Given the description of an element on the screen output the (x, y) to click on. 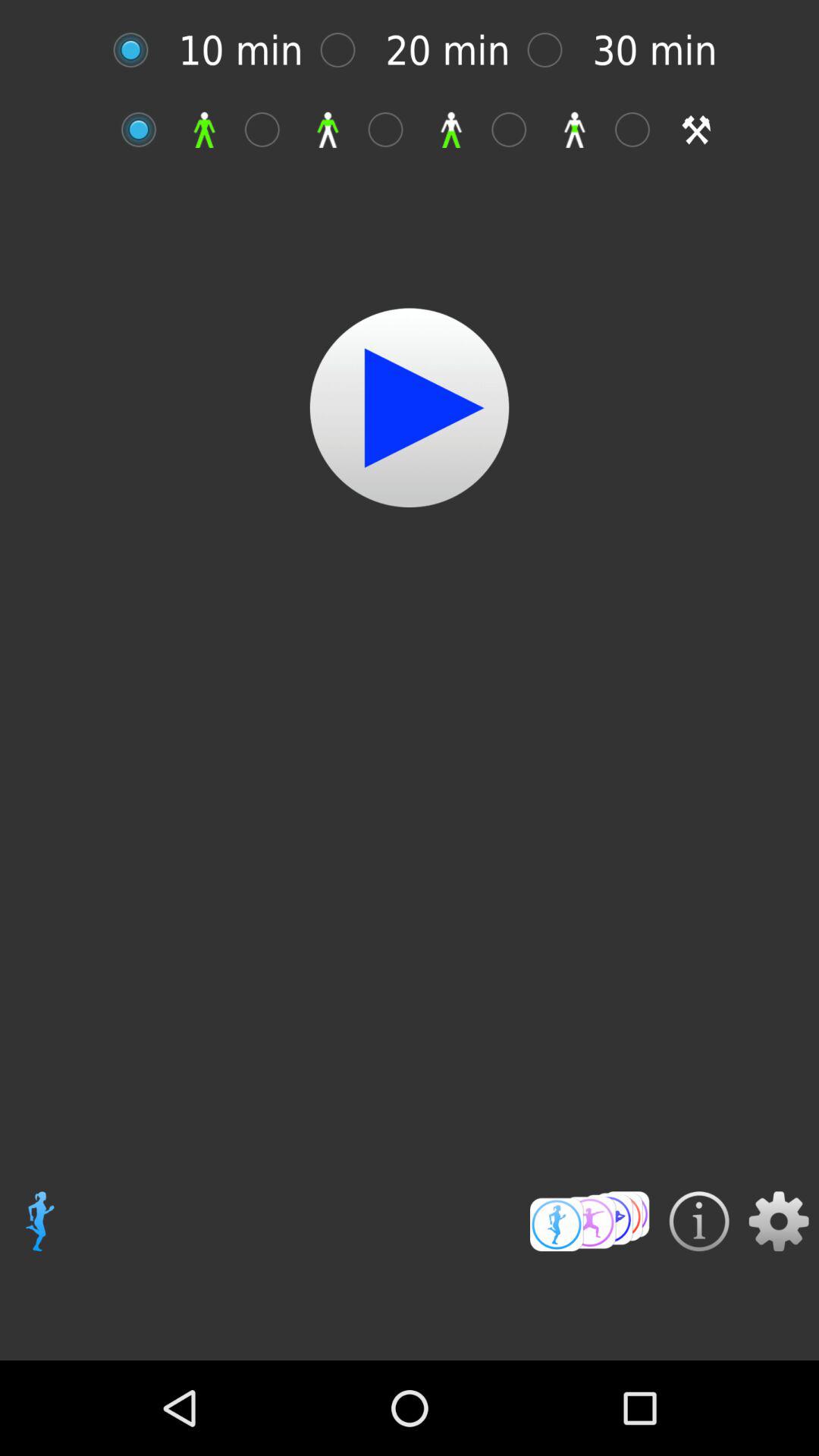
select option (146, 129)
